Given the description of an element on the screen output the (x, y) to click on. 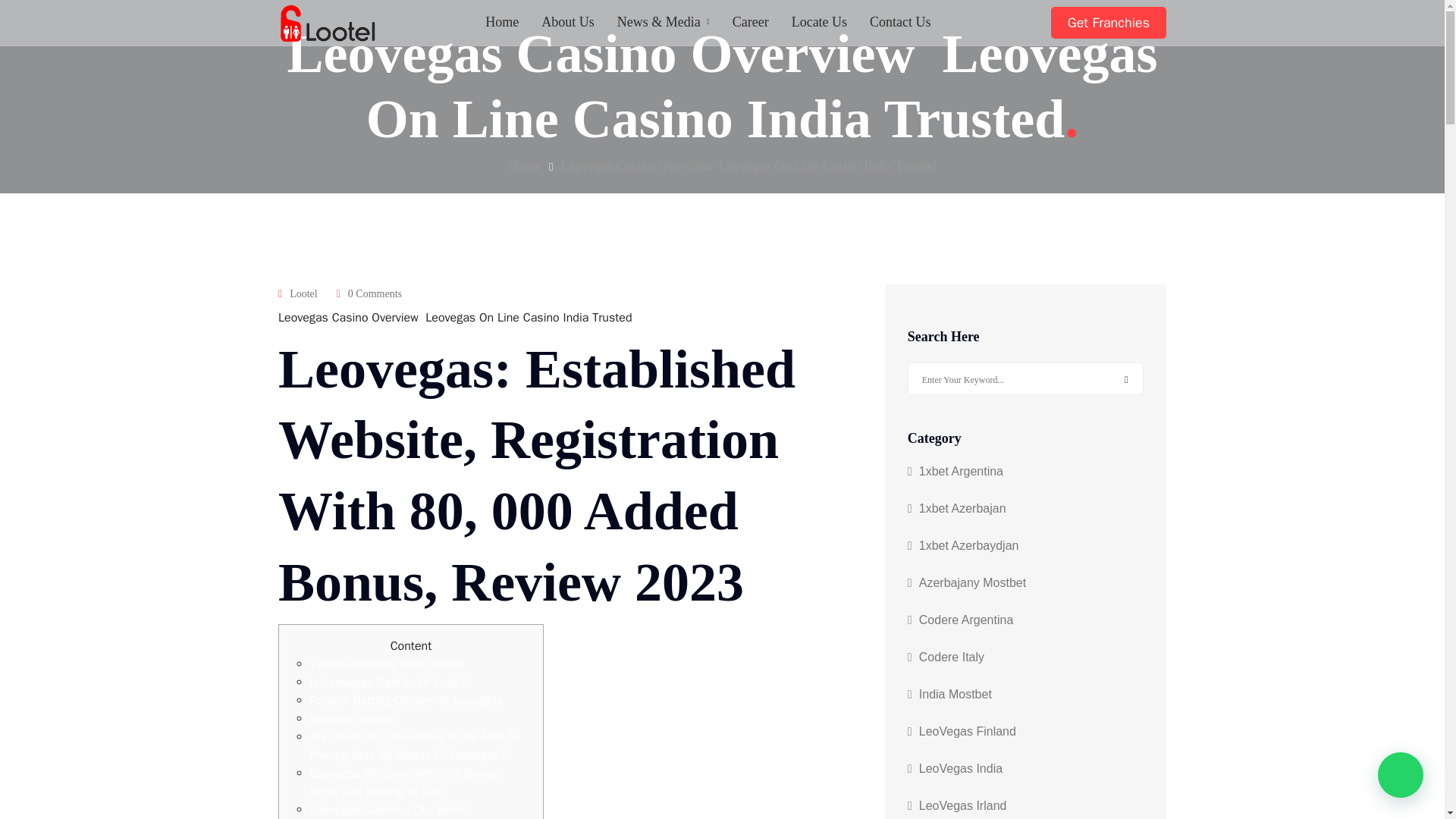
Locate Us (819, 21)
Contact Us (900, 21)
About Us (567, 21)
Get Franchies (1108, 22)
View all posts by lootel (303, 293)
Career (750, 21)
Lootel (327, 23)
Home (501, 21)
